Given the description of an element on the screen output the (x, y) to click on. 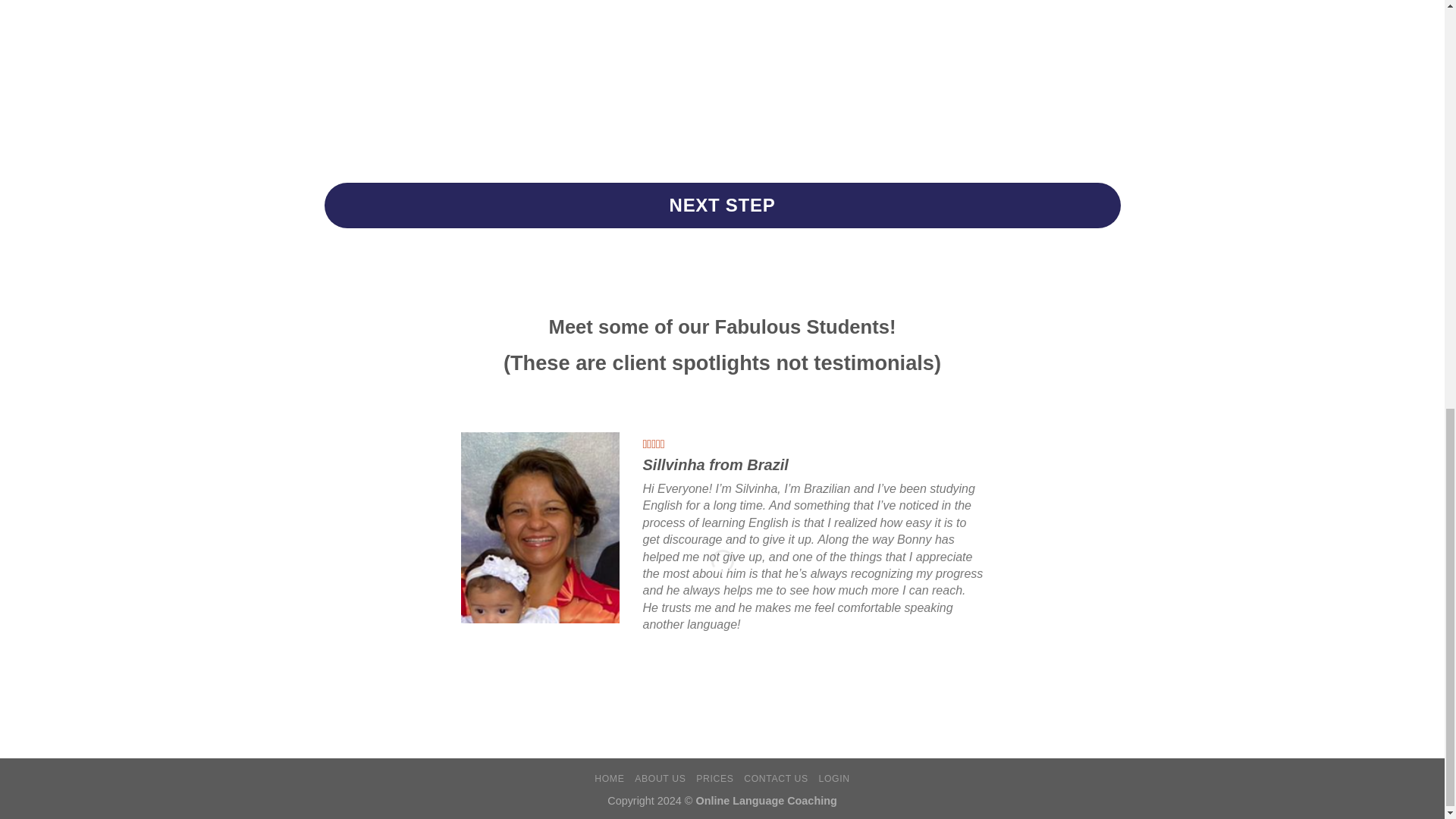
HOME (609, 778)
NEXT STEP (722, 205)
ABOUT US (659, 778)
LOGIN (834, 778)
PRICES (714, 778)
CONTACT US (776, 778)
